Given the description of an element on the screen output the (x, y) to click on. 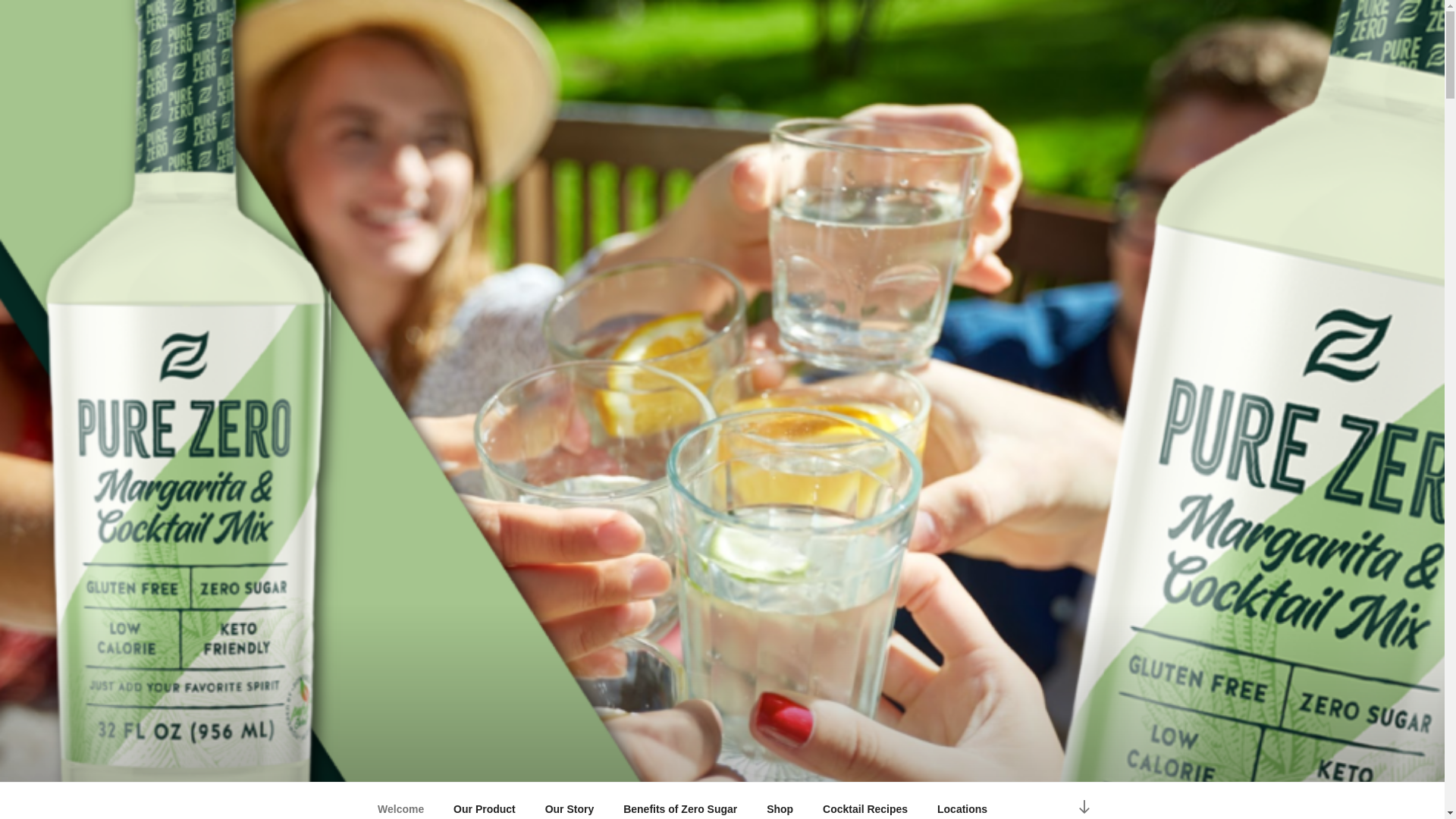
Scroll down to content (1082, 804)
Benefits of Zero Sugar (680, 804)
PUREZERO SUGAR FREE MARGARITA MIX (697, 762)
Locations (962, 804)
Our Product (485, 804)
Our Story (569, 804)
Shop (780, 804)
Cocktail Recipes (865, 804)
Welcome (400, 804)
Scroll down to content (1082, 804)
